Given the description of an element on the screen output the (x, y) to click on. 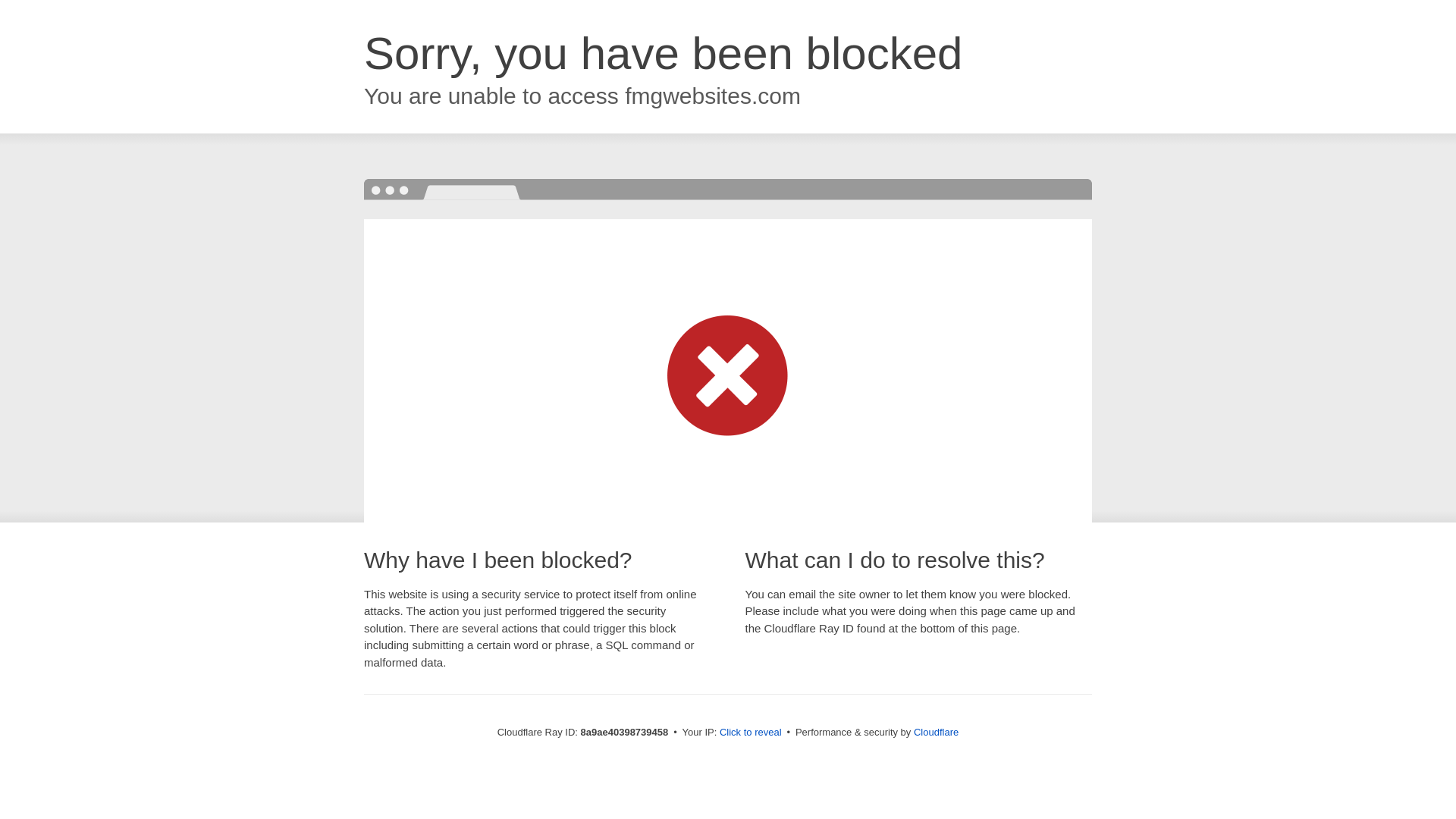
Cloudflare (936, 731)
Click to reveal (750, 732)
